Given the description of an element on the screen output the (x, y) to click on. 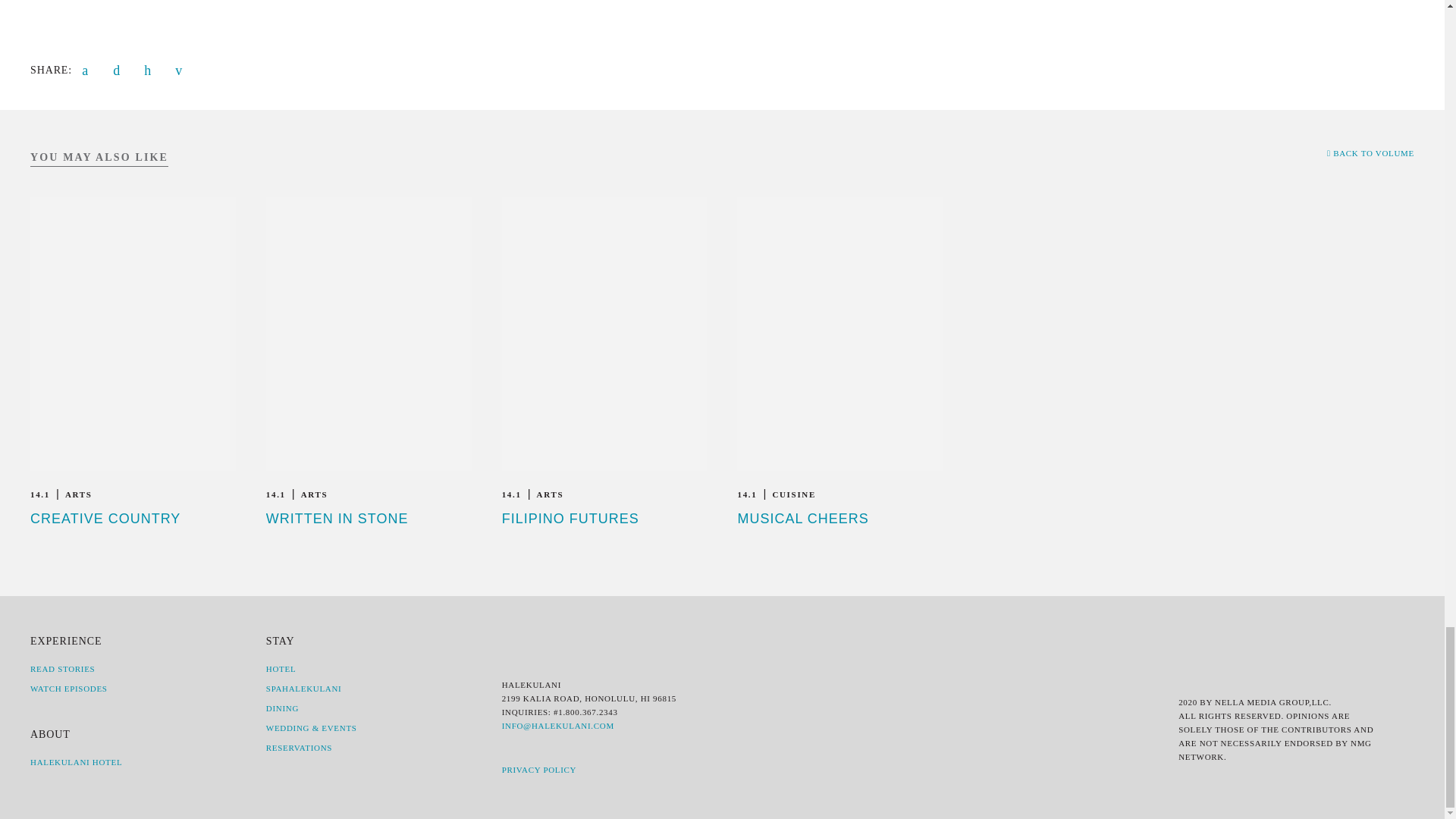
Share on Email (181, 70)
Creative Country (105, 518)
Share on Twitter (119, 70)
Share on Facebook (88, 70)
Share on Pinterest (150, 70)
